Given the description of an element on the screen output the (x, y) to click on. 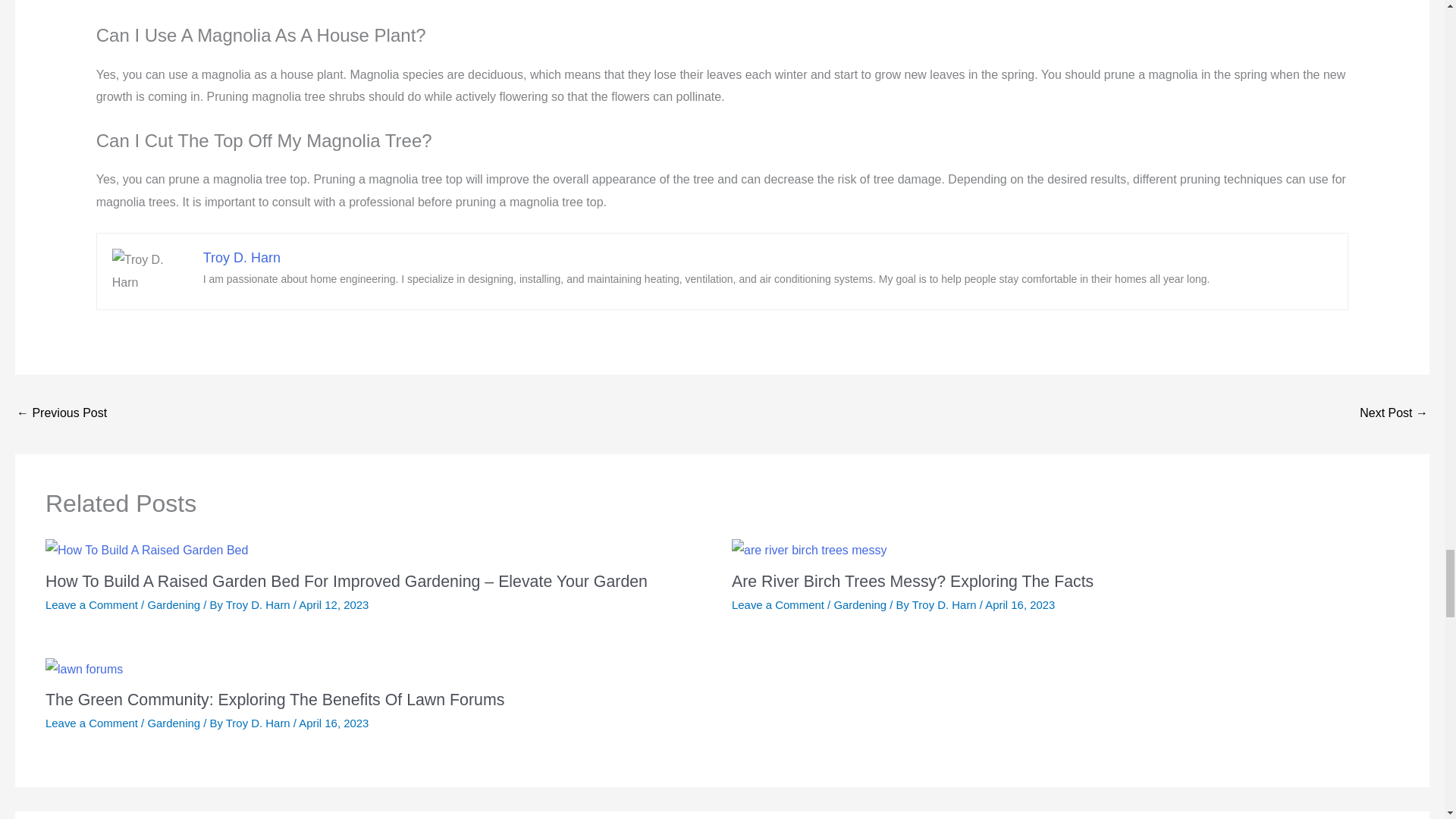
How To Make Horse Manure Fire Bricks: An Accessible Guide (61, 414)
Troy D. Harn (242, 257)
Leave a Comment (91, 604)
Gardening (173, 604)
